Given the description of an element on the screen output the (x, y) to click on. 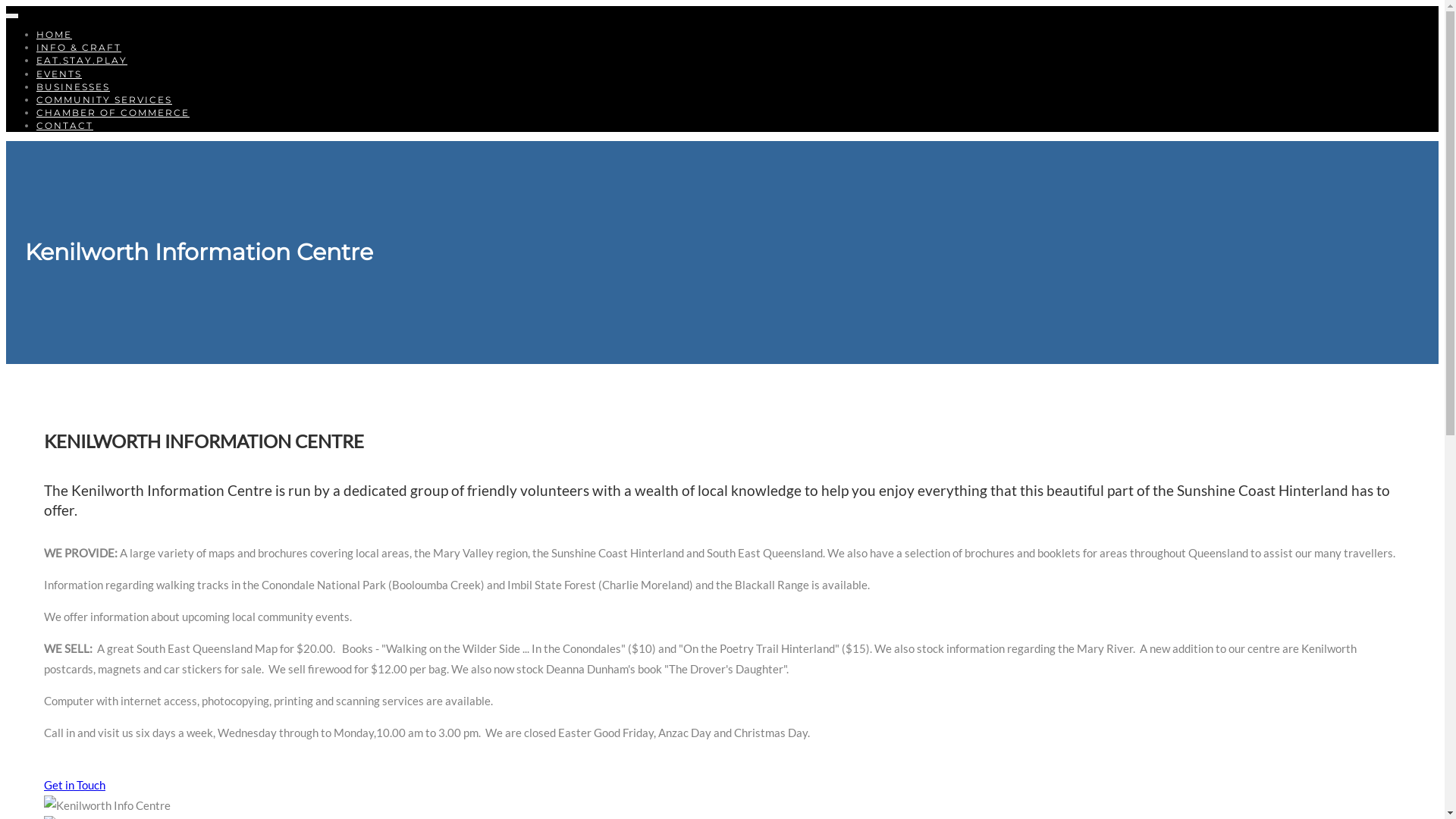
HOME Element type: text (54, 34)
BUSINESSES Element type: text (72, 86)
CHAMBER OF COMMERCE Element type: text (112, 112)
EAT.STAY.PLAY Element type: text (81, 59)
COMMUNITY SERVICES Element type: text (104, 99)
Get in Touch Element type: text (74, 784)
INFO & CRAFT Element type: text (78, 47)
CONTACT Element type: text (64, 125)
EVENTS Element type: text (58, 73)
